Given the description of an element on the screen output the (x, y) to click on. 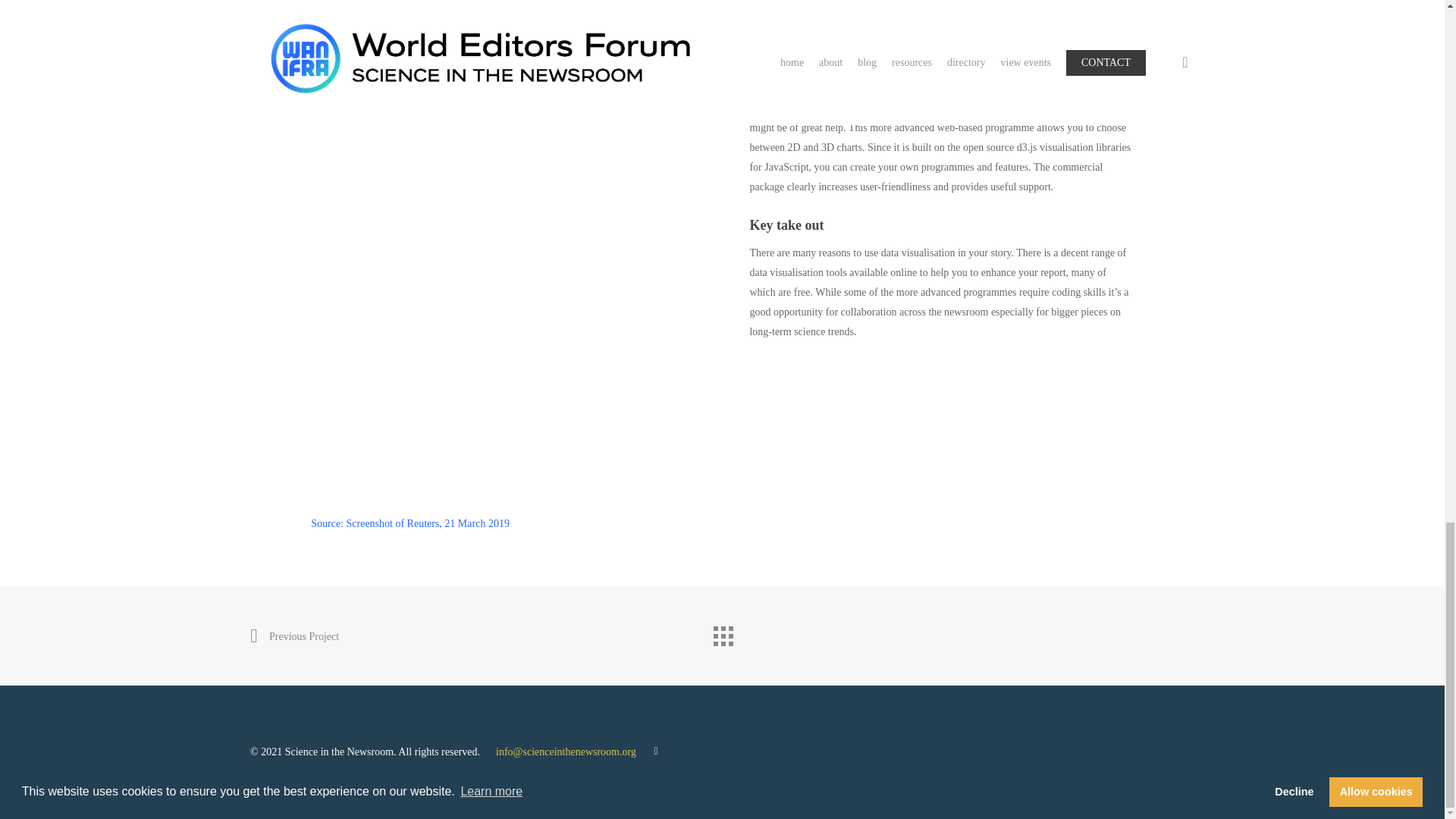
Source: Screenshot of Reuters, 21 March 2019 (410, 523)
Previous Project (294, 636)
Back to all projects (721, 632)
Dash by plotly (1086, 107)
